Given the description of an element on the screen output the (x, y) to click on. 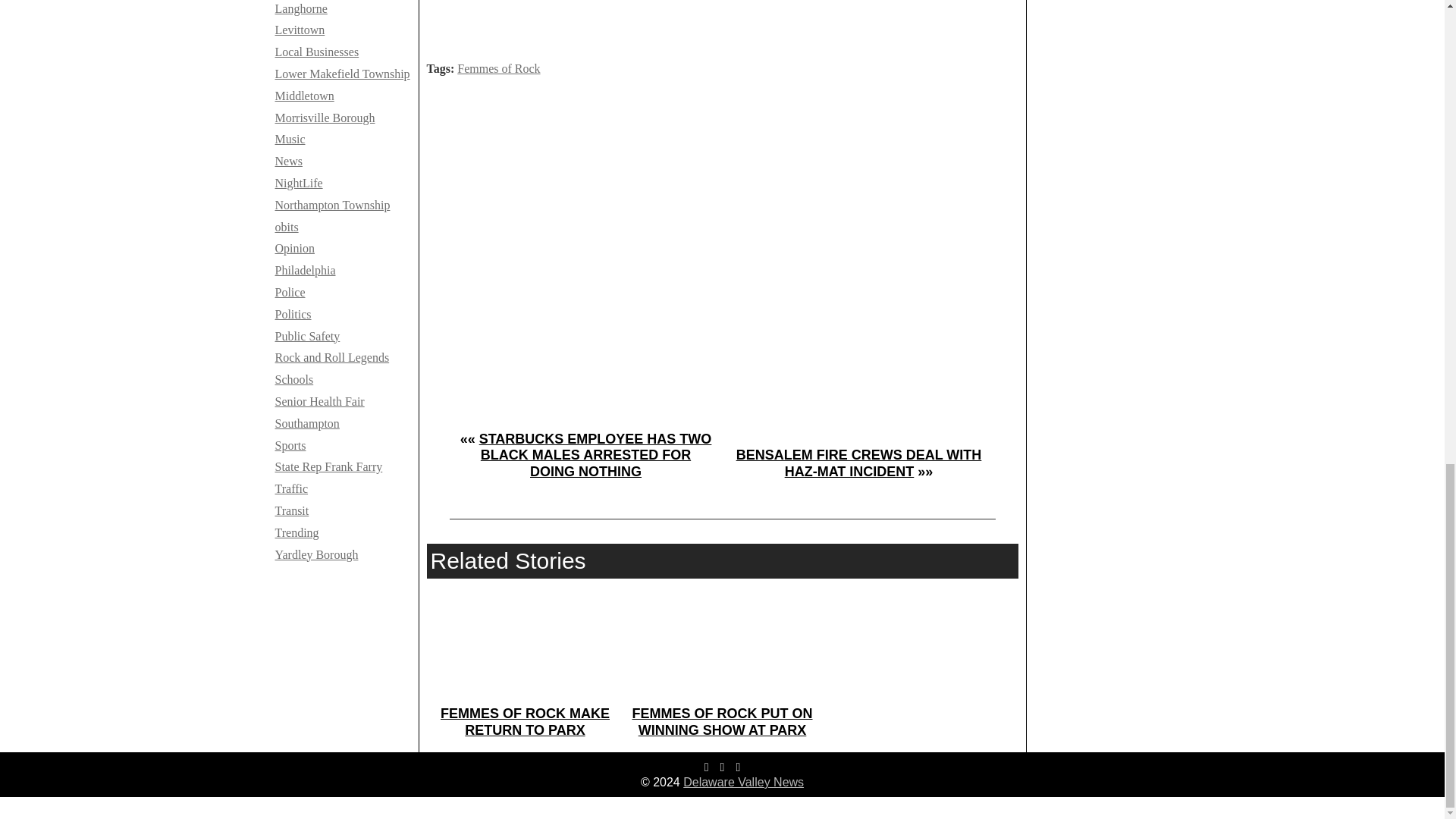
BENSALEM FIRE CREWS DEAL WITH HAZ-MAT INCIDENT (858, 463)
FEMMES OF ROCK PUT ON WINNING SHOW AT PARX (721, 721)
FEMMES OF ROCK MAKE RETURN TO PARX (525, 721)
Femmes of Rock (498, 68)
